Given the description of an element on the screen output the (x, y) to click on. 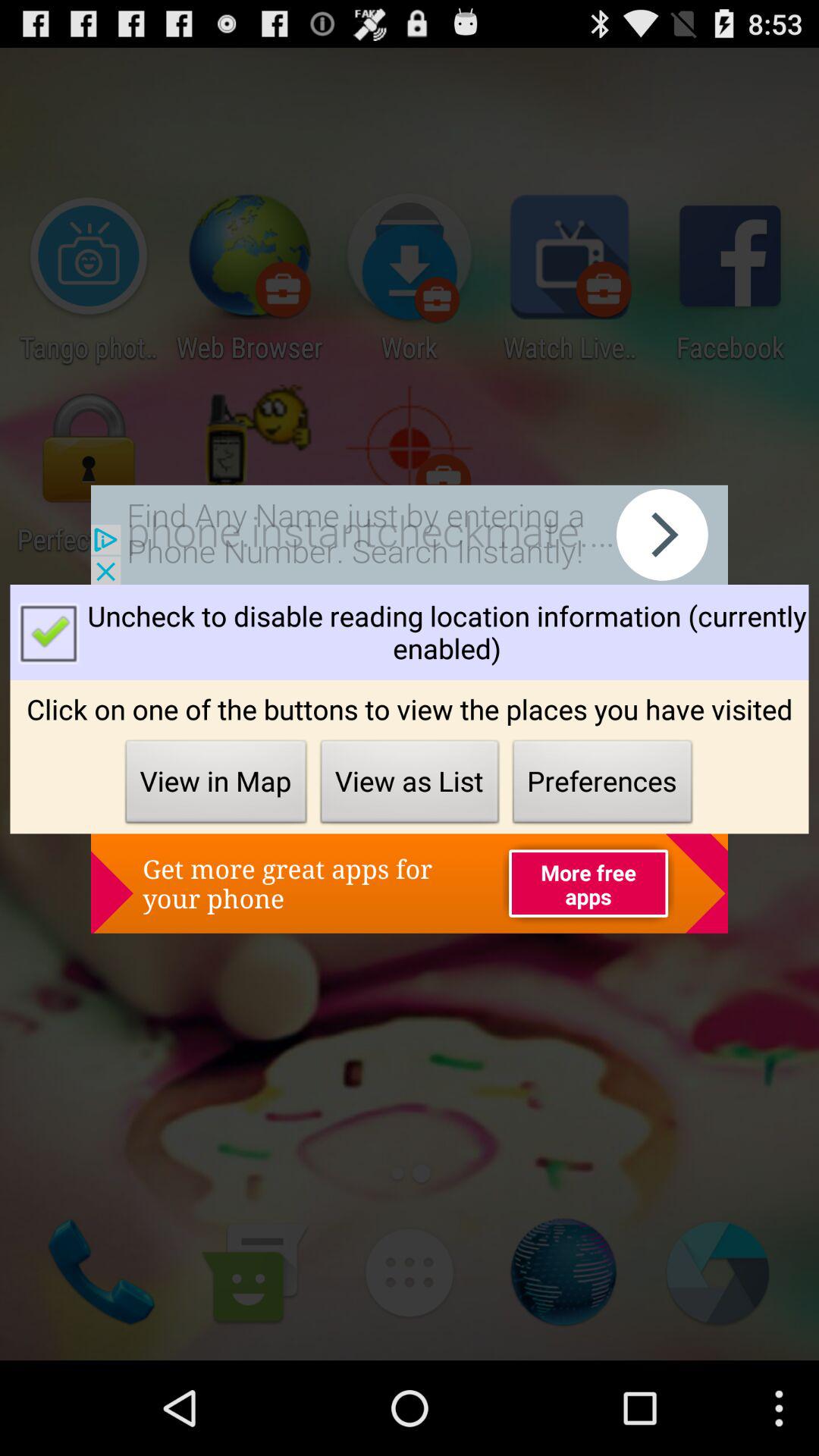
shows the advertisement tab (409, 534)
